Given the description of an element on the screen output the (x, y) to click on. 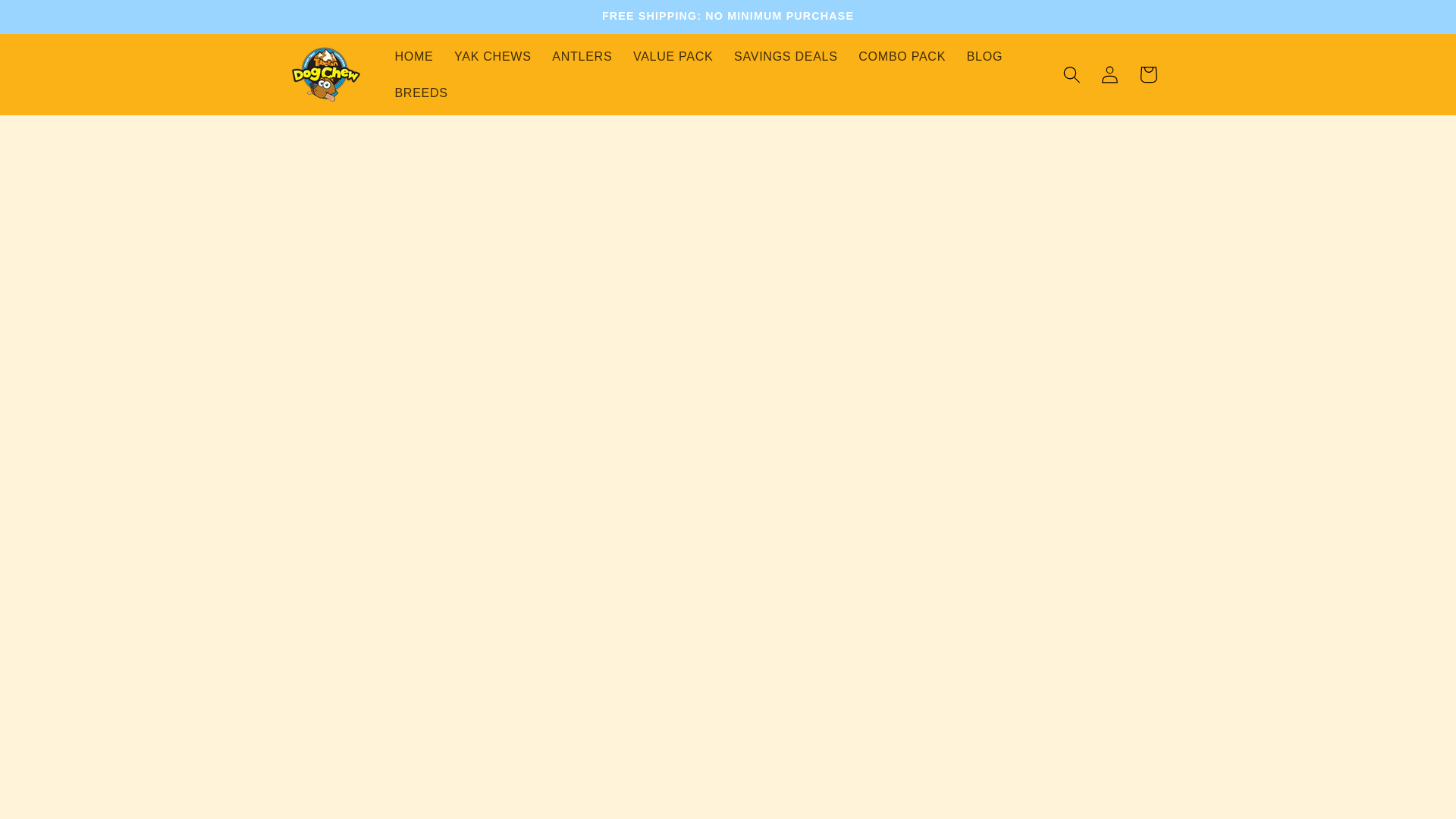
BREEDS (421, 92)
Cart (1148, 74)
YAK CHEWS (492, 55)
SAVINGS DEALS (785, 55)
HOME (414, 55)
ANTLERS (582, 55)
Log in (1109, 74)
COMBO PACK (901, 55)
Skip to content (52, 20)
VALUE PACK (673, 55)
BLOG (984, 55)
